Given the description of an element on the screen output the (x, y) to click on. 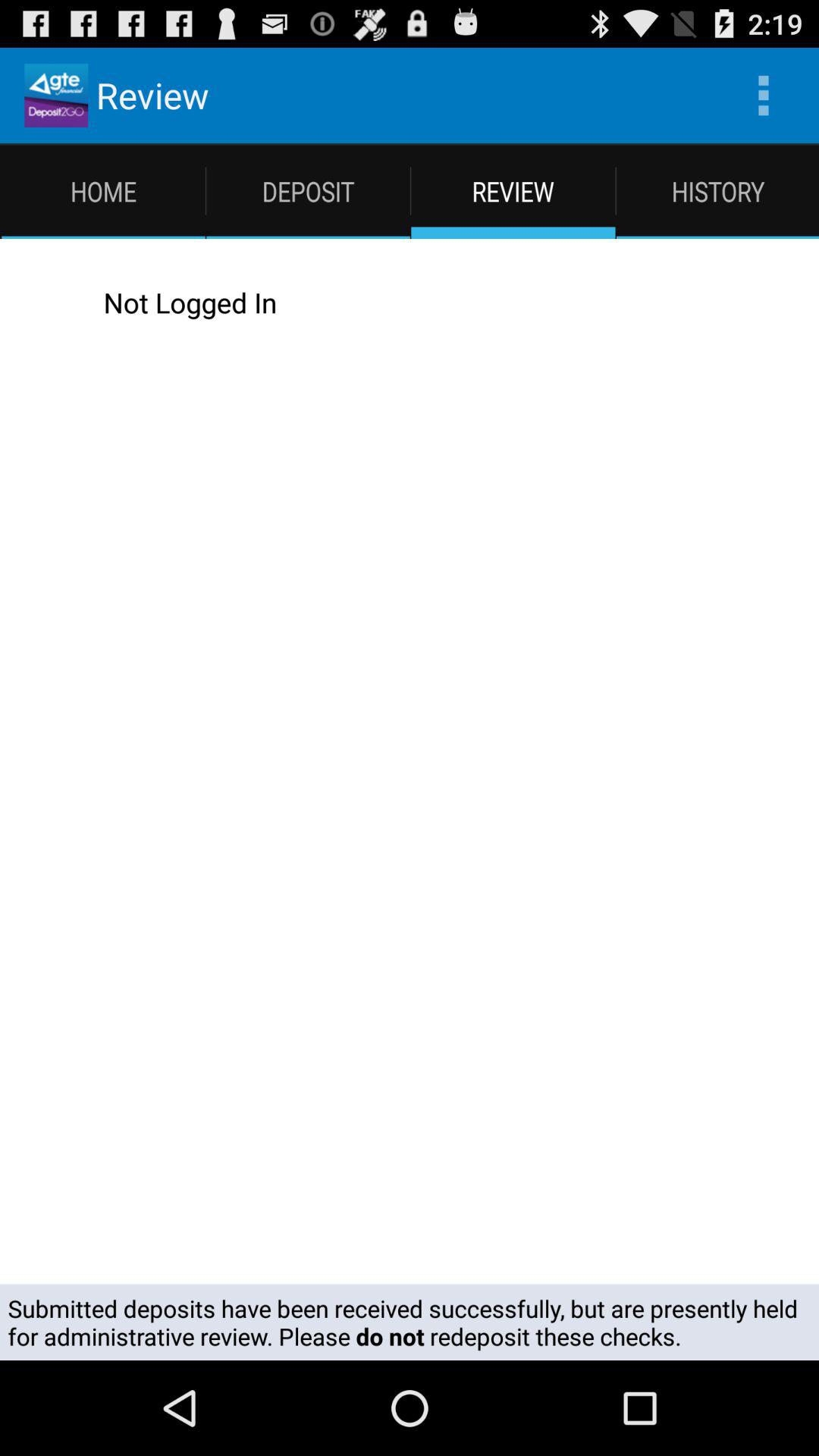
launch item above the submitted deposits have app (41, 302)
